Given the description of an element on the screen output the (x, y) to click on. 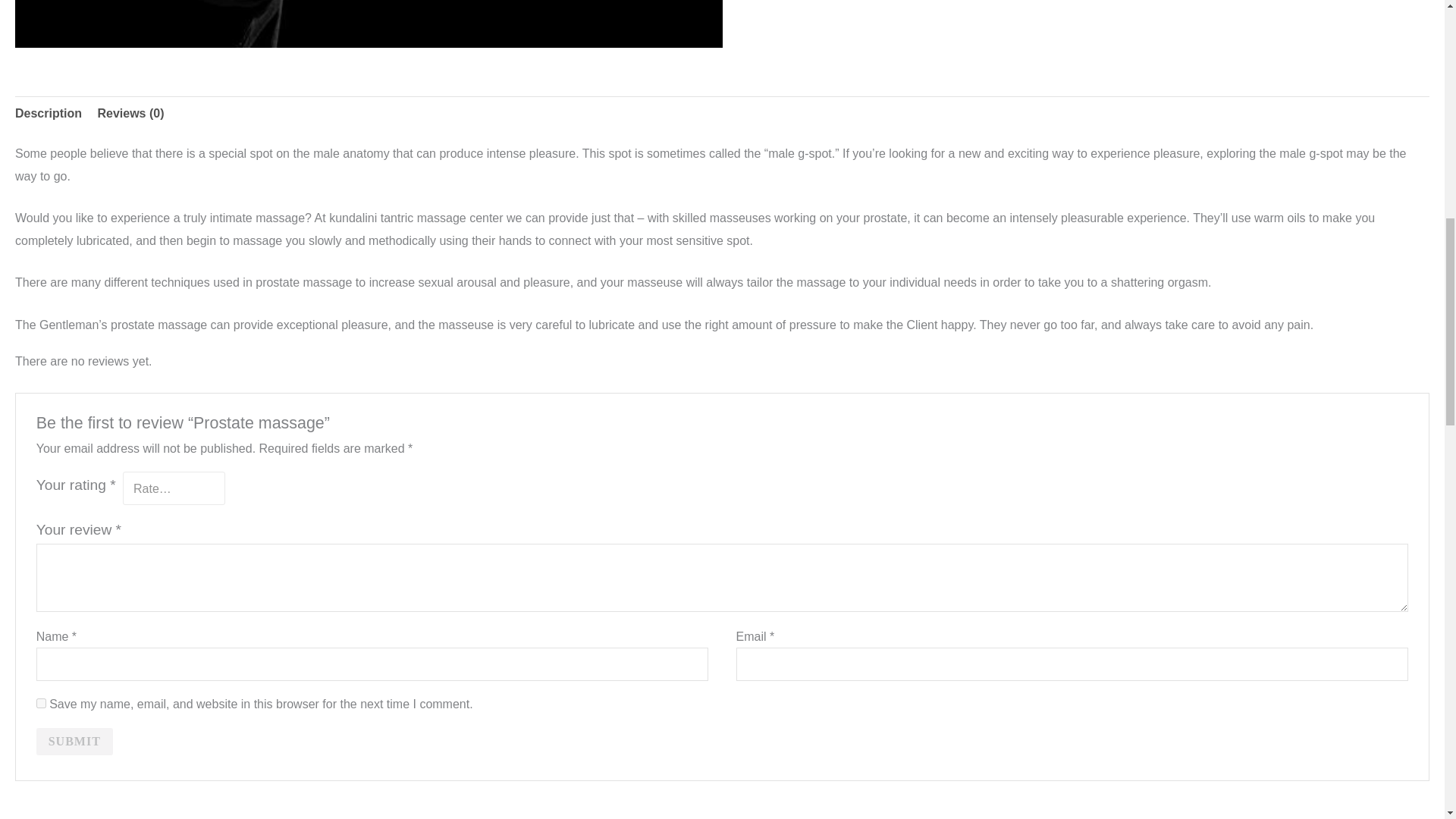
prostata (368, 23)
Submit (74, 741)
Description (47, 112)
yes (41, 703)
Submit (74, 741)
